Given the description of an element on the screen output the (x, y) to click on. 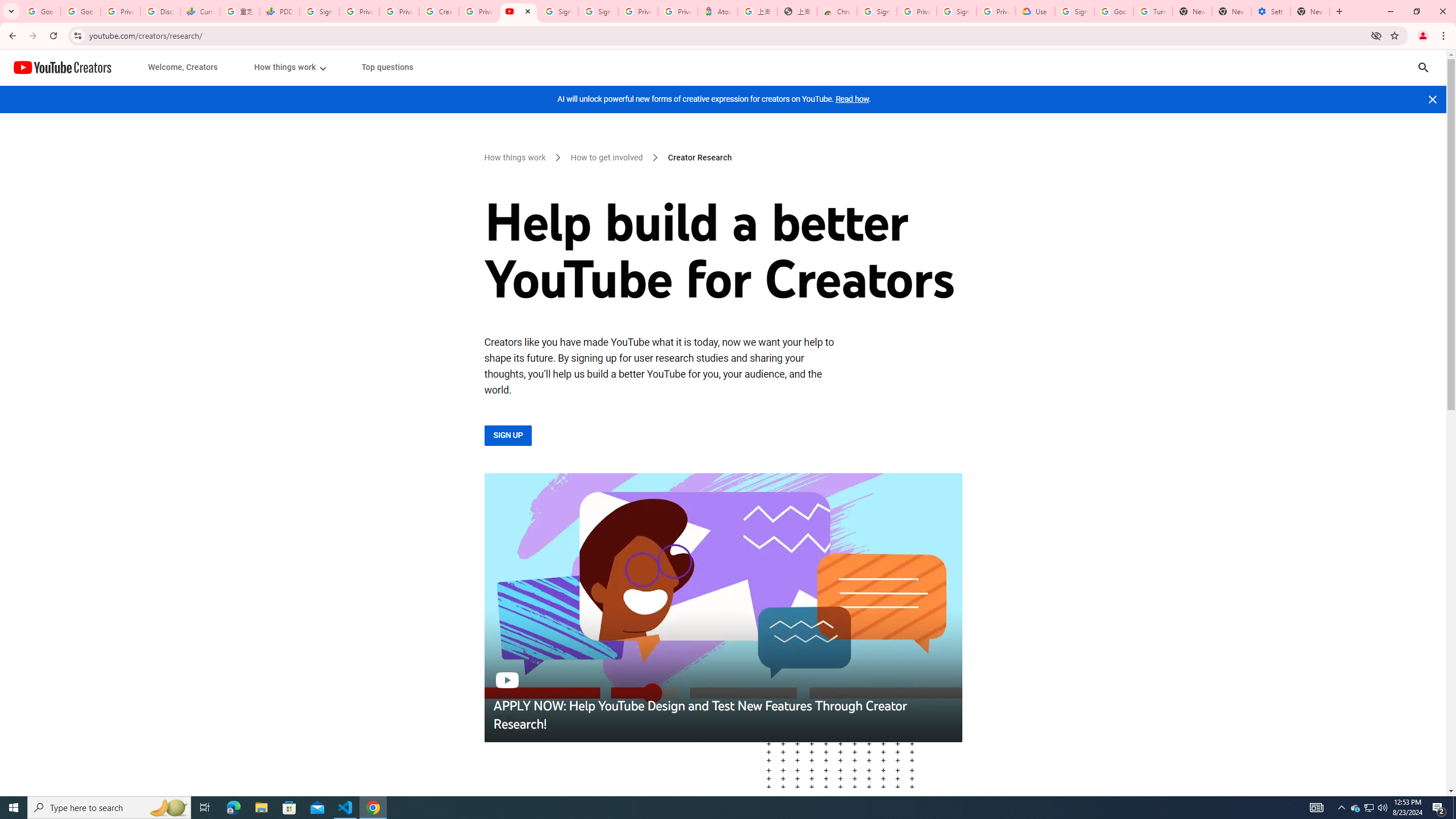
Turn cookies on or off - Computer - Google Account Help (1152, 11)
PDD Holdings Inc - ADR (PDD) Price & News - Google Finance (279, 11)
Sign in - Google Accounts (557, 11)
Settings - System (1270, 11)
